Given the description of an element on the screen output the (x, y) to click on. 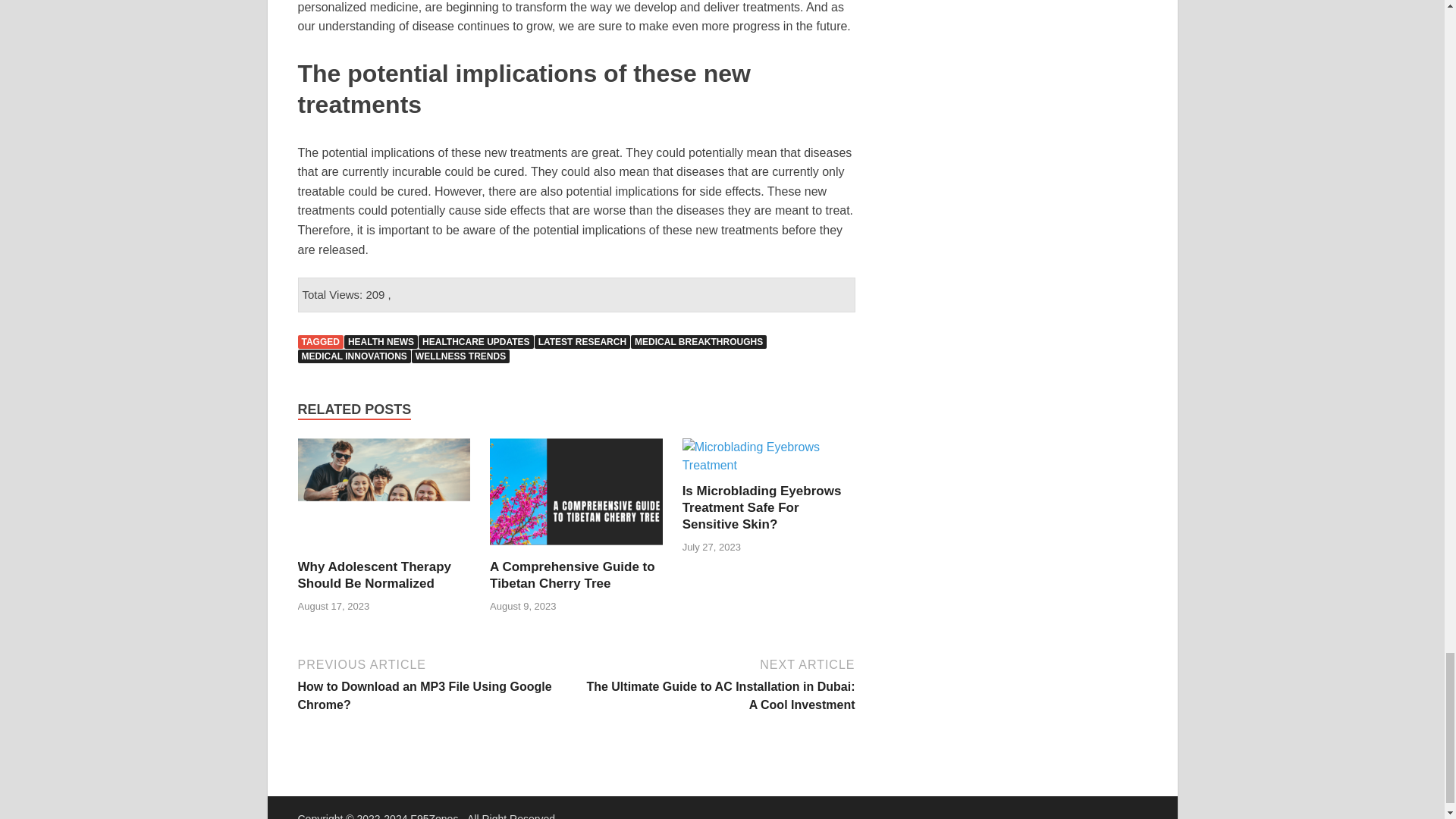
HEALTH NEWS (380, 341)
Why Adolescent Therapy Should Be Normalized (383, 549)
A Comprehensive Guide to Tibetan Cherry Tree (575, 549)
A Comprehensive Guide to Tibetan Cherry Tree (572, 574)
MEDICAL BREAKTHROUGHS (698, 341)
Is Microblading Eyebrows Treatment Safe For Sensitive Skin? (761, 507)
Why Adolescent Therapy Should Be Normalized (373, 574)
LATEST RESEARCH (582, 341)
HEALTHCARE UPDATES (476, 341)
A Comprehensive Guide to Tibetan Cherry Tree (572, 574)
Is Microblading Eyebrows Treatment Safe For Sensitive Skin? (769, 464)
Why Adolescent Therapy Should Be Normalized (373, 574)
WELLNESS TRENDS (460, 356)
MEDICAL INNOVATIONS (353, 356)
